Given the description of an element on the screen output the (x, y) to click on. 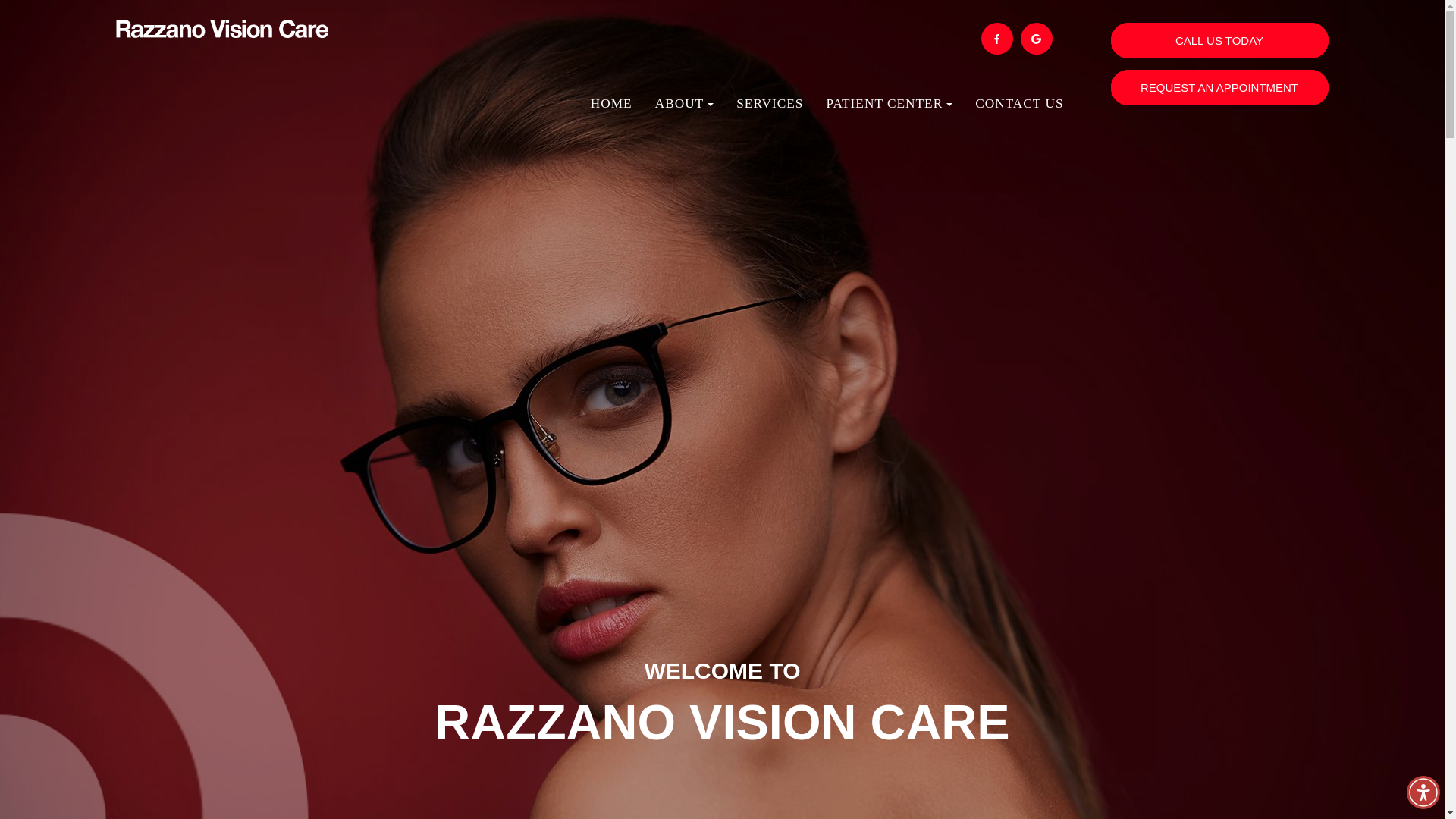
CONTACT US (1018, 110)
HOME (611, 110)
PATIENT CENTER (888, 110)
CALL US TODAY (1218, 40)
SERVICES (769, 110)
ABOUT (684, 110)
Accessibility Menu (1422, 792)
